Given the description of an element on the screen output the (x, y) to click on. 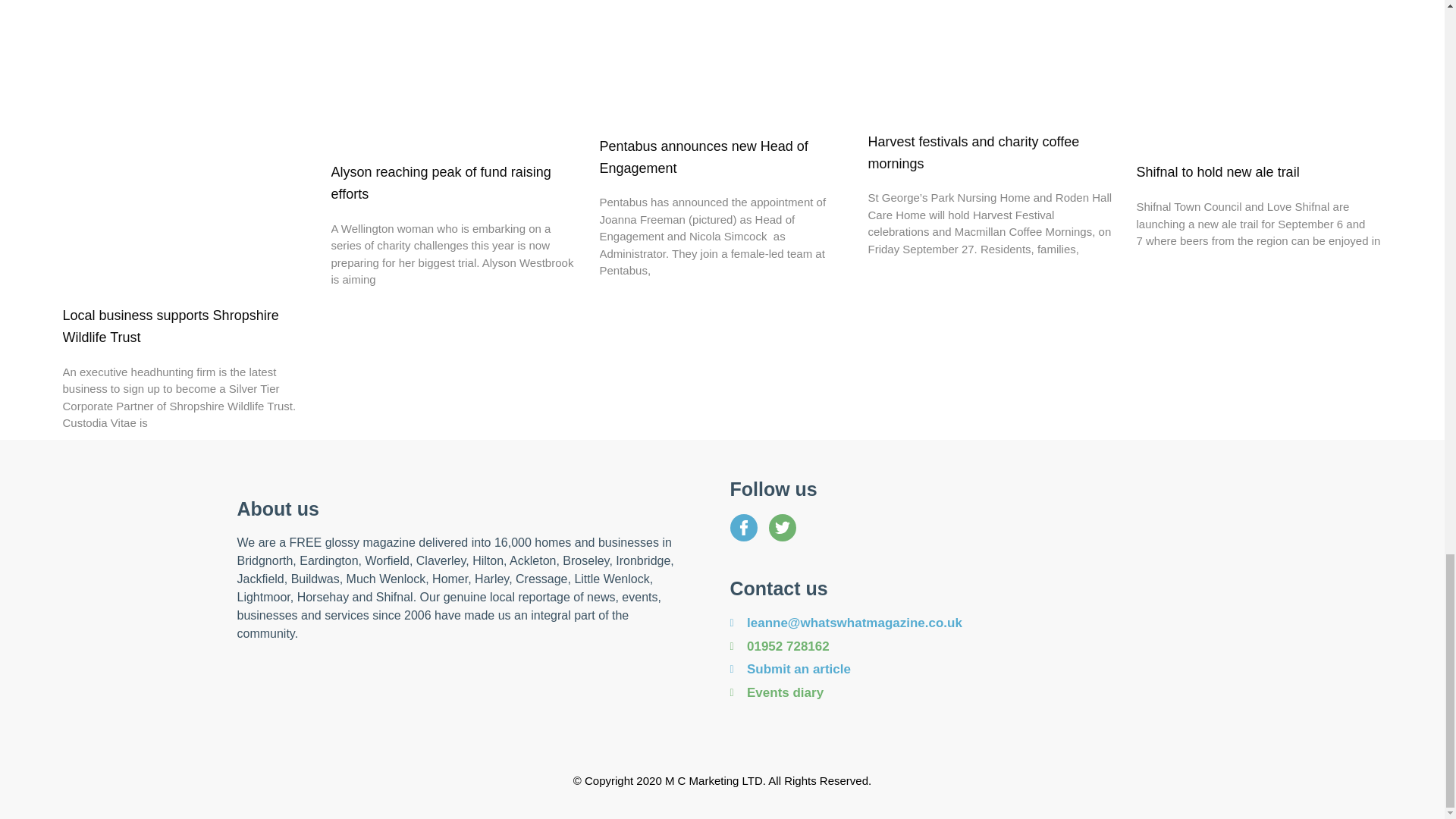
Pentabus announces new Head of Engagement (703, 157)
01952 728162 (968, 646)
Submit an article (968, 669)
Shifnal to hold new ale trail (1216, 171)
Local business supports Shropshire Wildlife Trust (170, 325)
Harvest festivals and charity coffee mornings (972, 152)
Alyson reaching peak of fund raising efforts (440, 182)
